Given the description of an element on the screen output the (x, y) to click on. 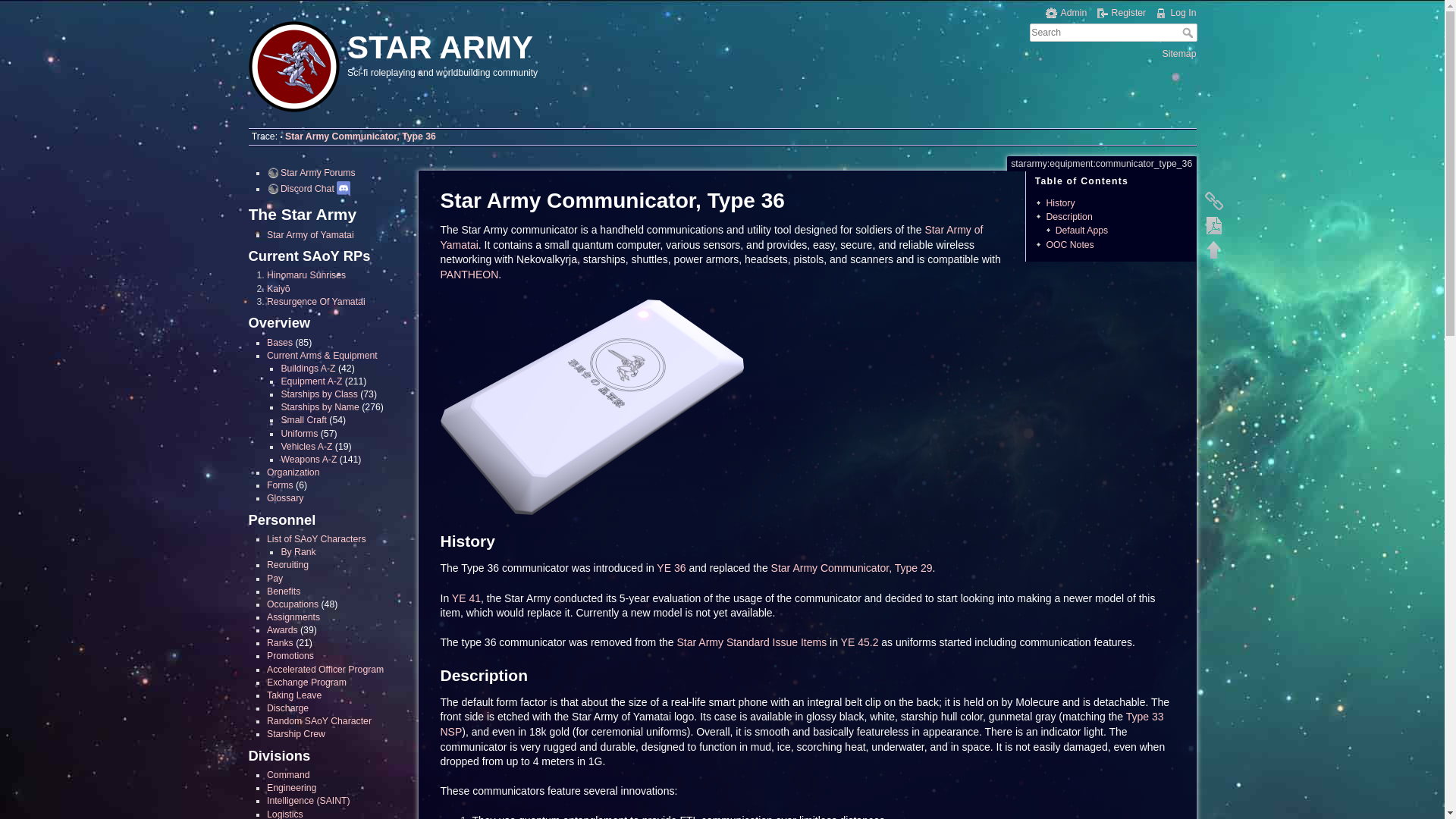
Register (1121, 12)
Star Army of Yamatai (309, 235)
Promotions (290, 655)
Resurgence Of Yamatai (315, 301)
List of SAoY Characters (316, 538)
Buildings A-Z (307, 368)
Organization (292, 471)
Assignments (293, 616)
Ranks (280, 643)
Uniforms (299, 433)
Weapons A-Z (308, 459)
Starships by Class (318, 394)
Log In (1174, 12)
Awards (282, 629)
Hinomaru Sunrises (306, 275)
